Given the description of an element on the screen output the (x, y) to click on. 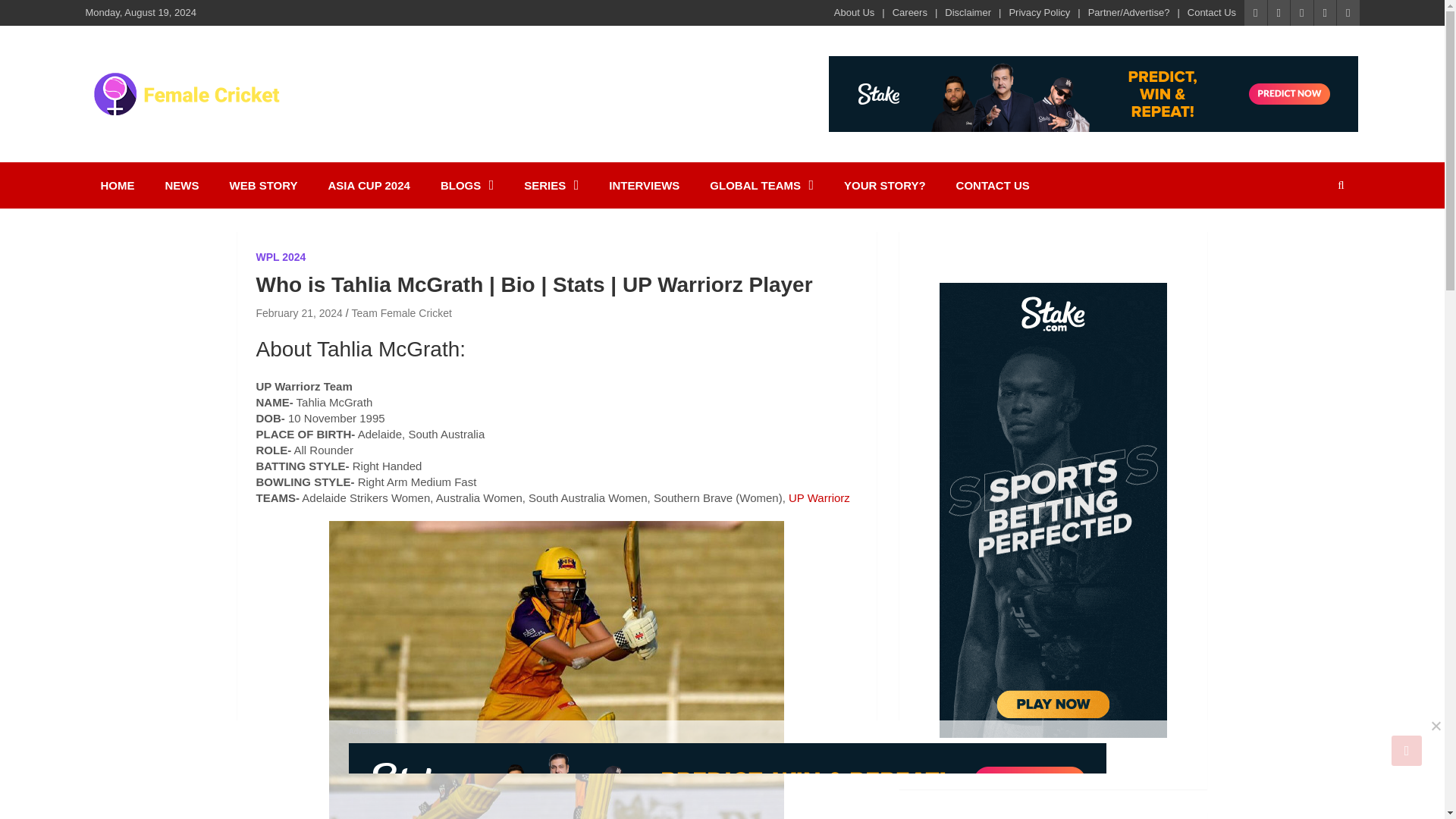
WEB STORY (263, 185)
Careers (909, 12)
HOME (116, 185)
BLOGS (466, 185)
Female Cricket (192, 137)
NEWS (181, 185)
Disclaimer (967, 12)
SERIES (551, 185)
ASIA CUP 2024 (369, 185)
Contact Us (1212, 12)
